Given the description of an element on the screen output the (x, y) to click on. 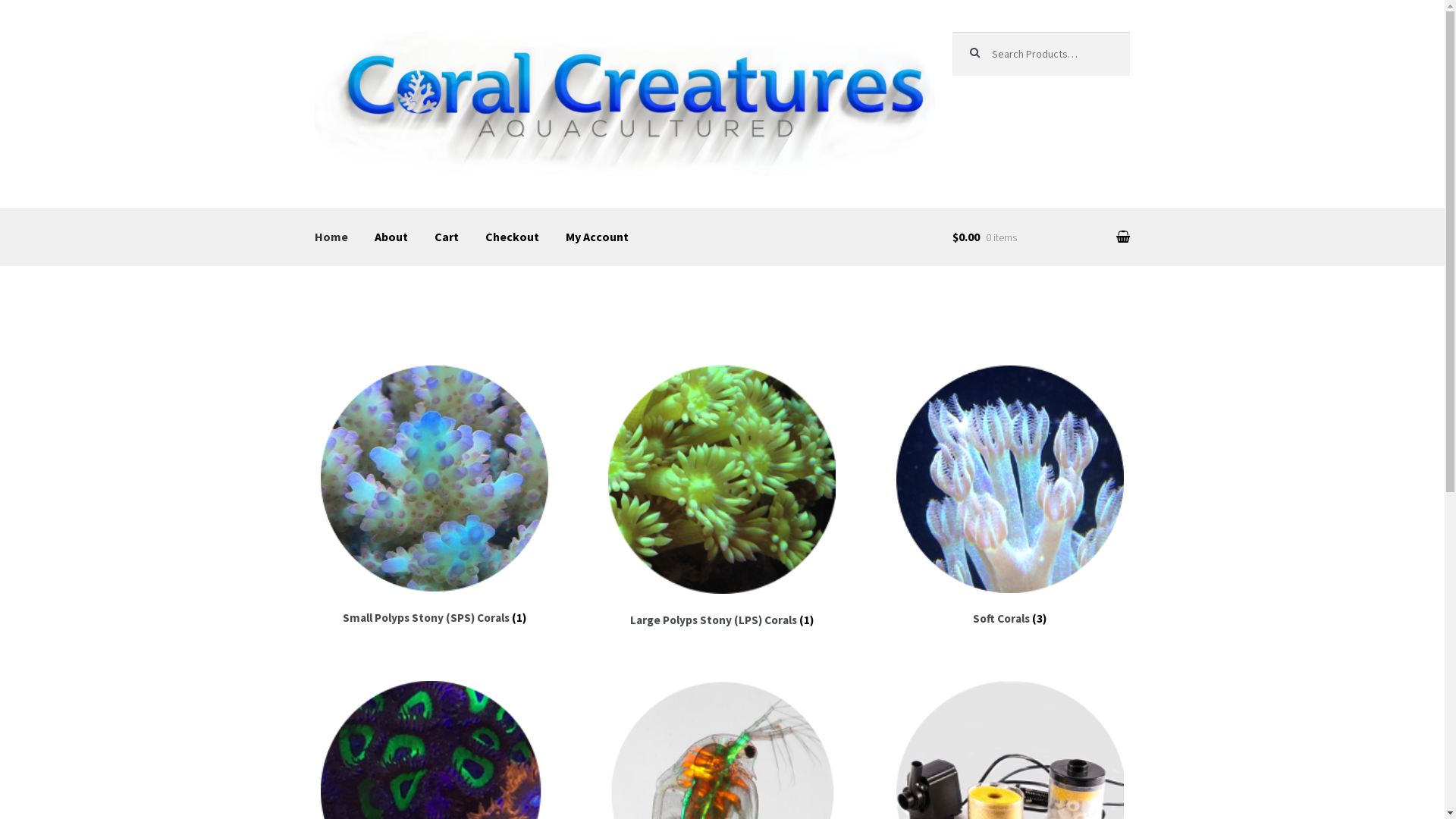
Cart Element type: text (446, 236)
Search for: Element type: hover (1040, 53)
About Element type: text (391, 236)
Skip to navigation Element type: text (364, 41)
$0.00 0 items Element type: text (1040, 236)
Large Polyps Stony (LPS) Corals (1) Element type: text (722, 497)
Home Element type: text (331, 236)
Checkout Element type: text (512, 236)
Search Element type: text (984, 46)
Small Polyps Stony (SPS) Corals (1) Element type: text (434, 496)
Soft Corals (3) Element type: text (1009, 497)
My Account Element type: text (596, 236)
Skip to content Element type: text (357, 41)
